Given the description of an element on the screen output the (x, y) to click on. 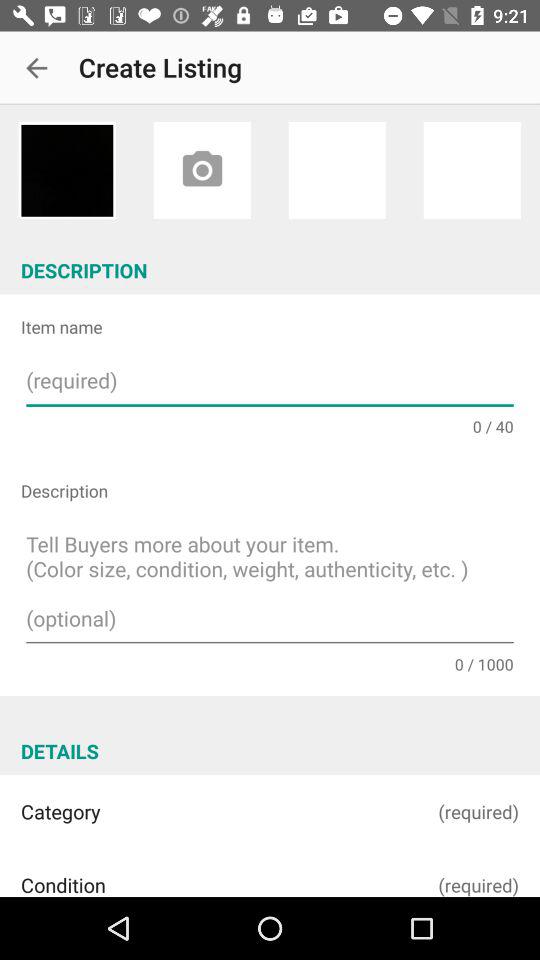
turn on the app to the left of the create listing item (36, 67)
